Given the description of an element on the screen output the (x, y) to click on. 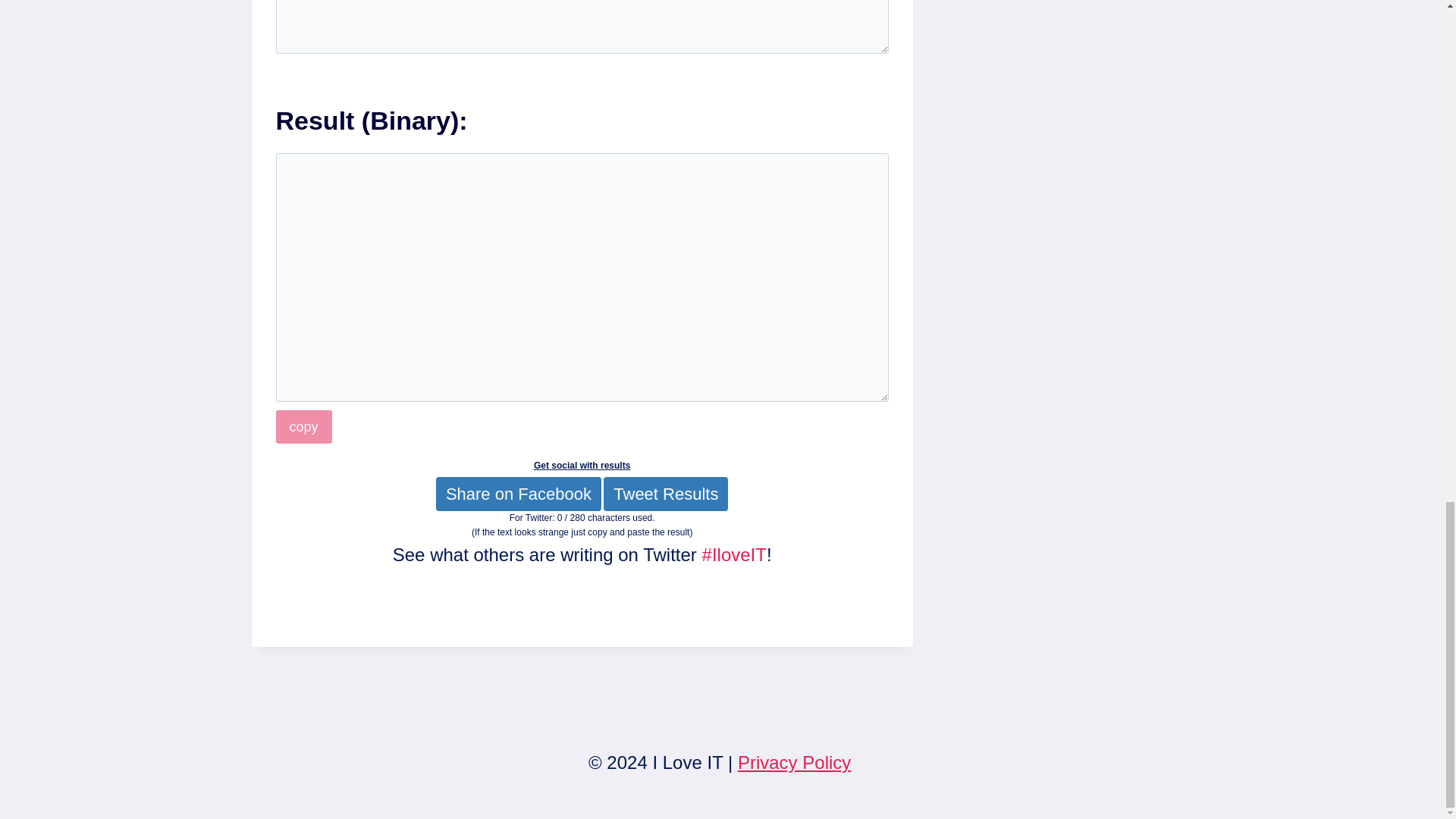
Share on Facebook (518, 493)
Tweet Results (666, 493)
copy (303, 426)
